Given the description of an element on the screen output the (x, y) to click on. 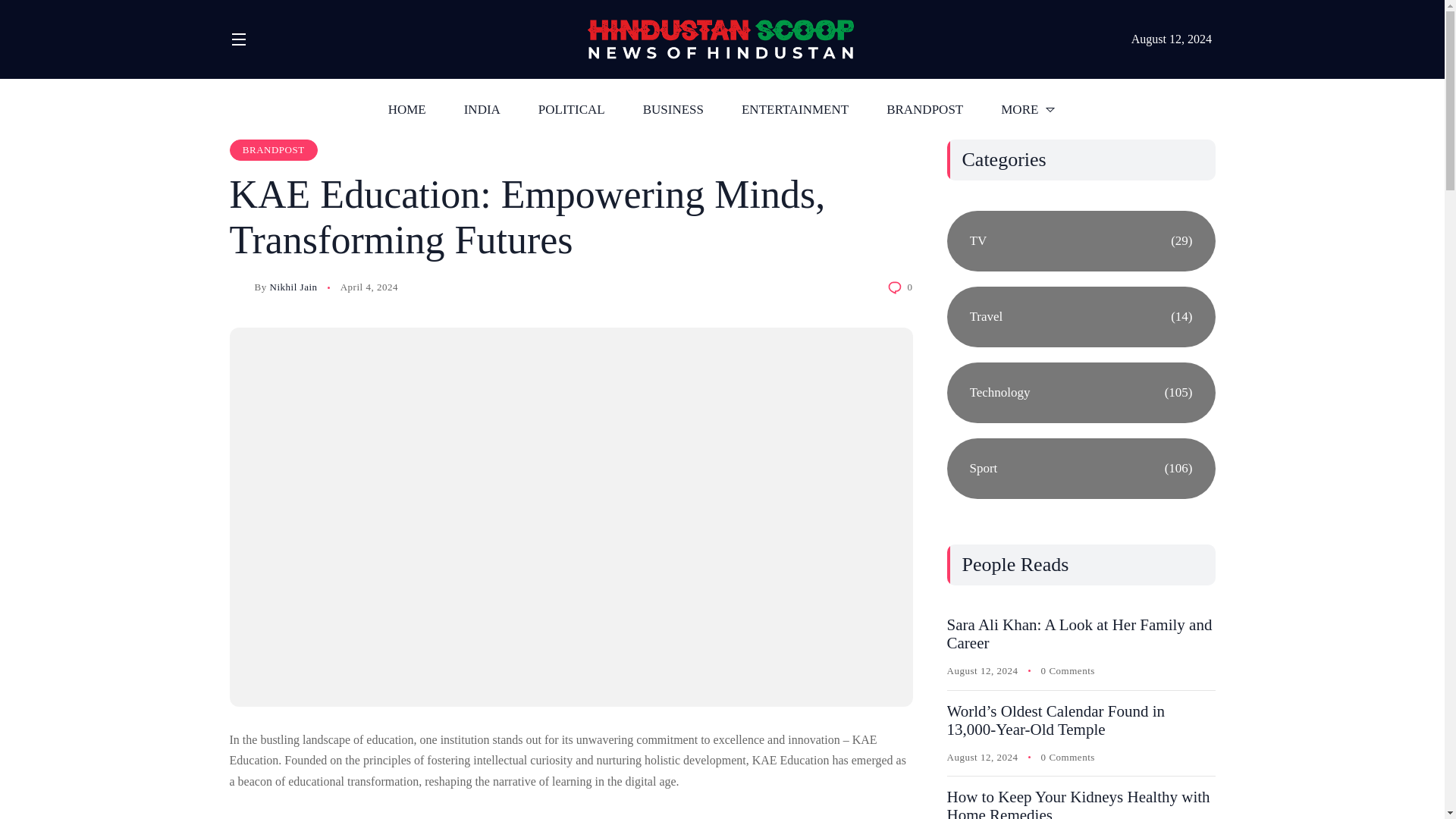
ENTERTAINMENT (794, 108)
Hindustan scoop (720, 41)
Sport (1080, 468)
Technology (1080, 392)
BUSINESS (673, 108)
Sara Ali Khan: A Look at Her Family and Career (1078, 633)
POLITICAL (571, 108)
BRANDPOST (924, 108)
Travel (1080, 316)
MORE (1029, 108)
